Given the description of an element on the screen output the (x, y) to click on. 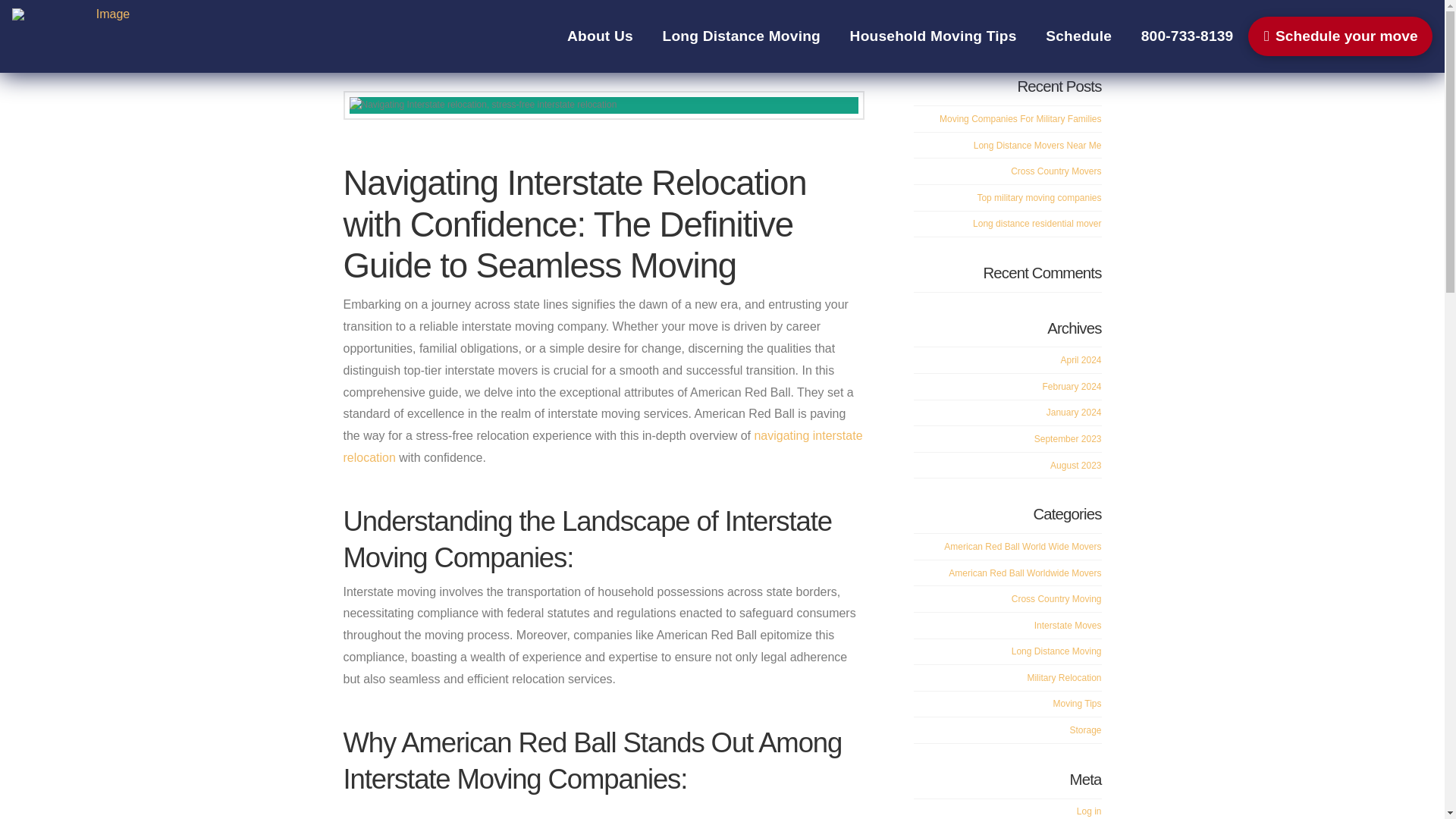
January 2024 (1074, 412)
Schedule (1077, 36)
Long Distance Moving (684, 62)
August 2023 (1074, 465)
Household Moving Tips (932, 36)
American Red Ball World Wide Movers (1021, 546)
800-733-8139 (1186, 36)
Cross Country Moving (1056, 599)
Long Distance Moving (740, 36)
About Us (600, 36)
